Given the description of an element on the screen output the (x, y) to click on. 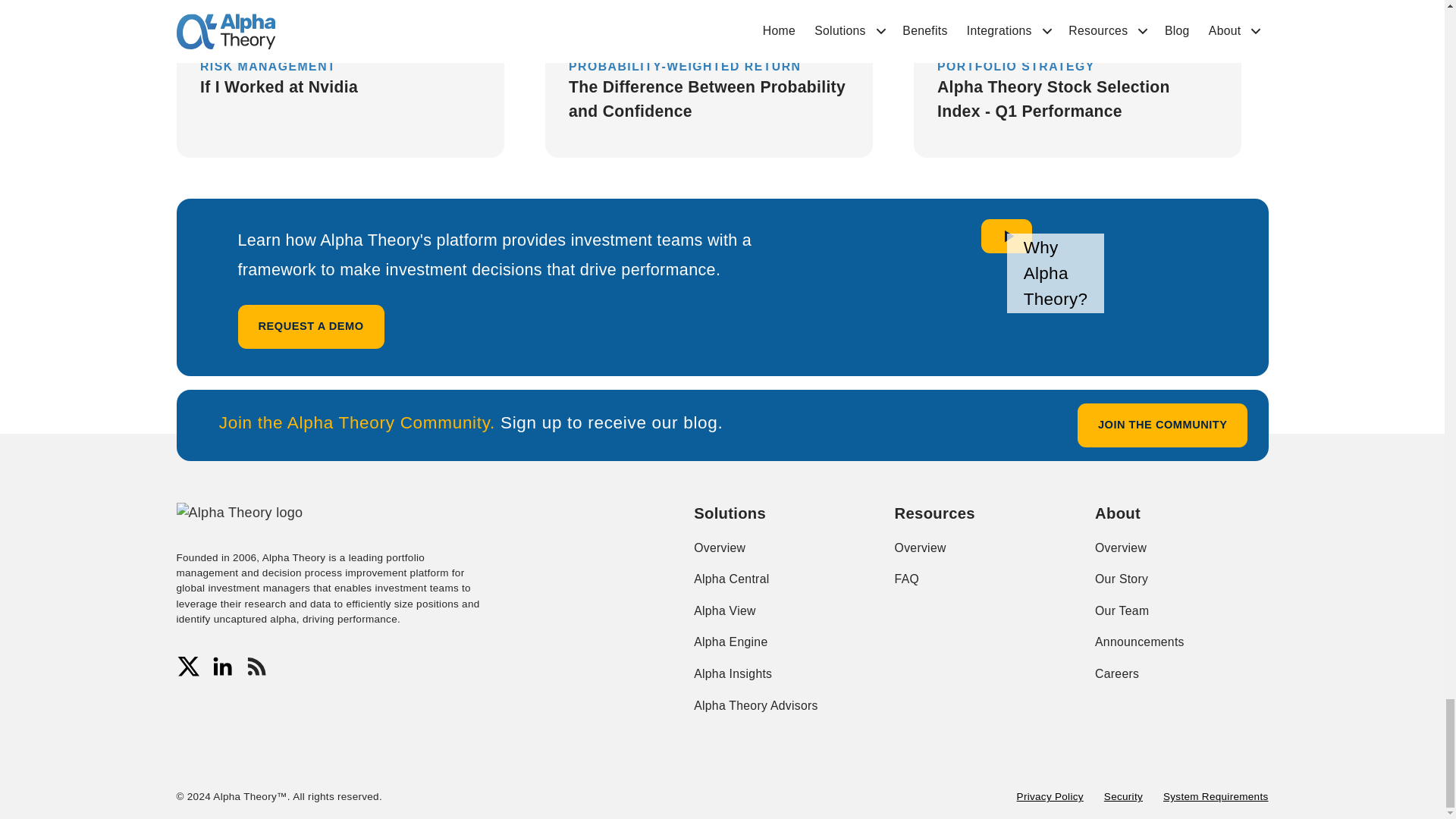
rss (255, 666)
rss (255, 666)
Alpha View (724, 611)
Alpha Central (731, 579)
JOIN THE COMMUNITY (1162, 425)
REQUEST A DEMO (311, 326)
Alpha Engine (730, 642)
Alpha Insights (732, 674)
Overview (719, 548)
Why Alpha Theory? (1005, 236)
